Given the description of an element on the screen output the (x, y) to click on. 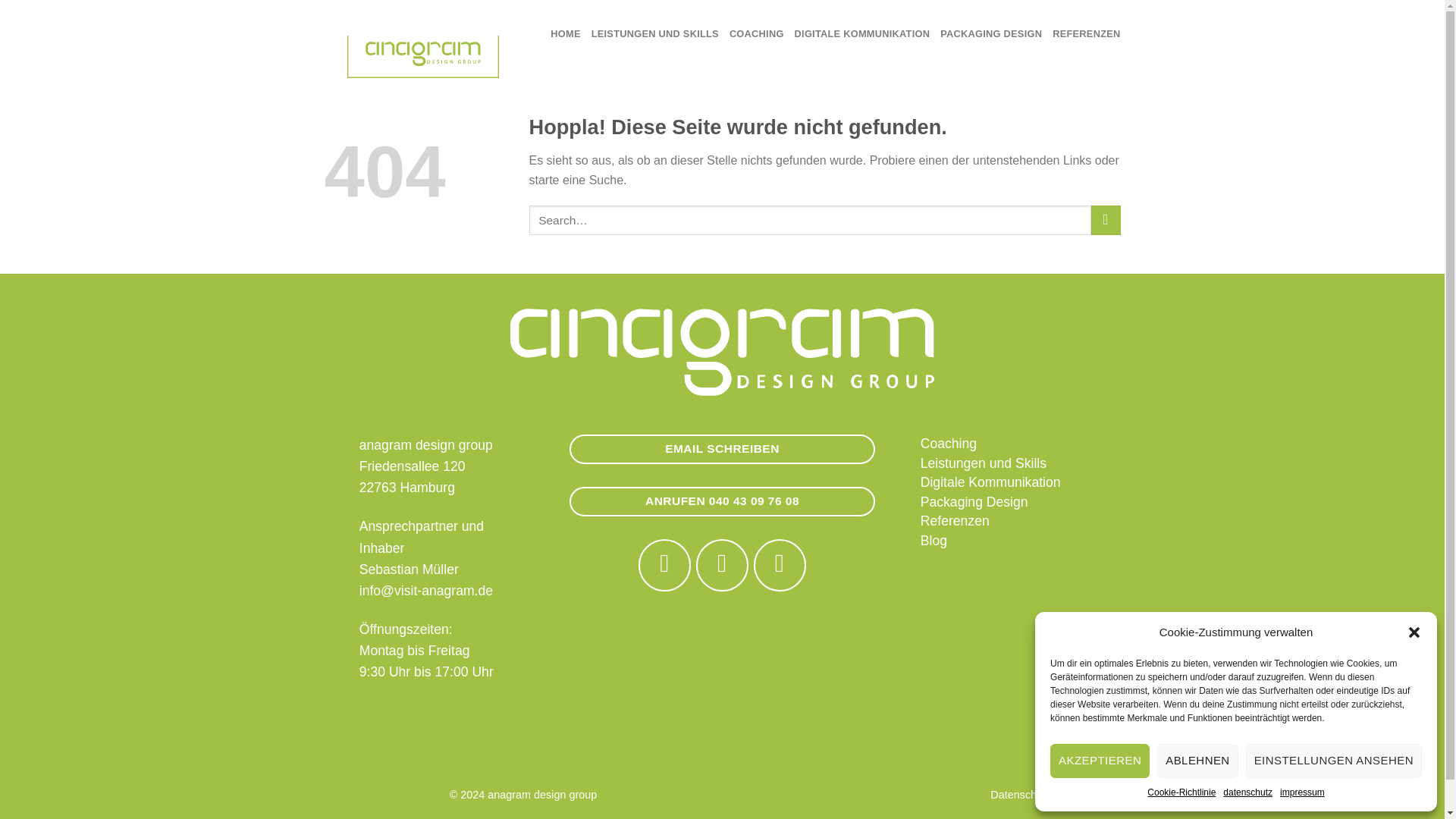
ABLEHNEN (1197, 760)
Packaging Design (973, 501)
Blog (933, 540)
Cookie-Richtlinie (1181, 792)
visit-anagram.de (423, 56)
LEISTUNGEN UND SKILLS (655, 33)
DIGITALE KOMMUNIKATION (862, 33)
AKZEPTIEREN (1099, 760)
Digitale Kommunikation (990, 482)
REFERENZEN (1085, 33)
Datenschutz (1020, 794)
Auf Pinterest folgen (780, 564)
Auf Facebook folgen (664, 564)
Auf Instagram folgen (721, 564)
EMAIL SCHREIBEN (722, 449)
